Given the description of an element on the screen output the (x, y) to click on. 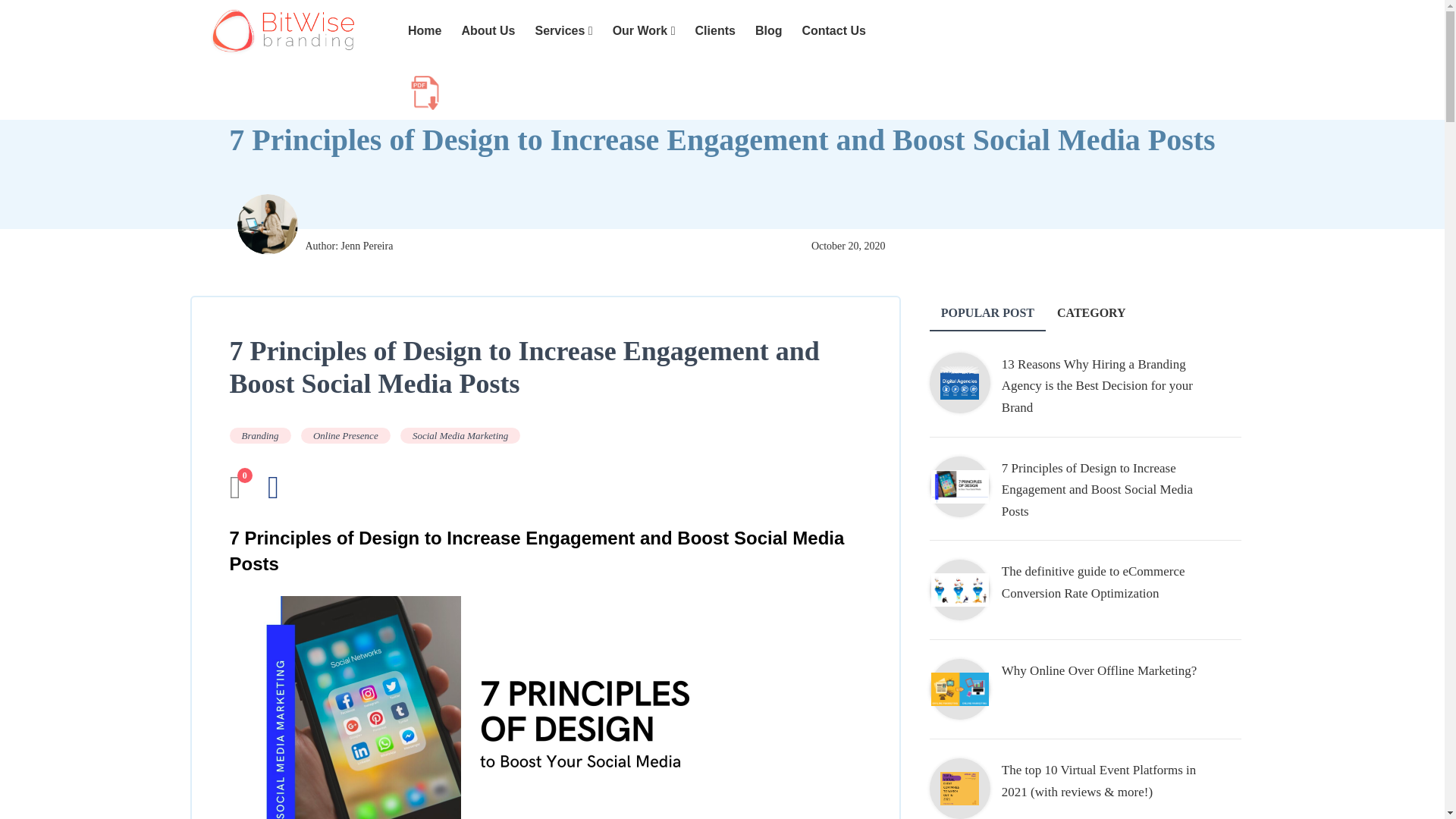
Branding (258, 435)
Social Media Marketing (459, 435)
Contact Us (833, 31)
Services (563, 31)
0 (234, 494)
Online Presence (345, 435)
Our Work (643, 31)
